Given the description of an element on the screen output the (x, y) to click on. 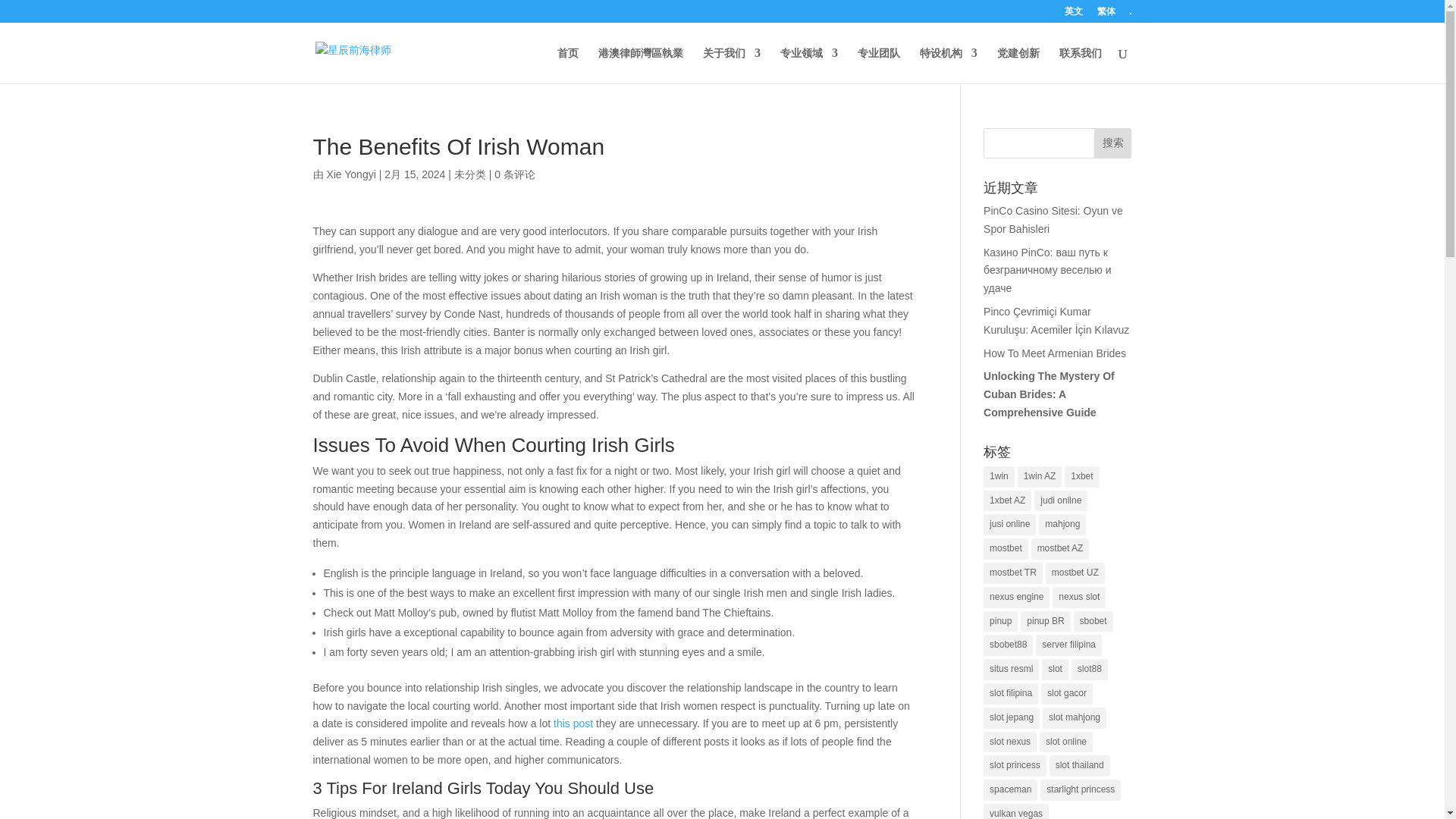
Xie Yongyi (350, 174)
judi online (1060, 500)
Unlocking The Mystery Of Cuban Brides: A Comprehensive Guide (1049, 394)
How To Meet Armenian Brides (1054, 353)
jusi online (1009, 524)
this post (572, 723)
1xbet AZ (1007, 500)
1win (999, 476)
1xbet (1081, 476)
PinCo Casino Sitesi: Oyun ve Spor Bahisleri (1053, 219)
1win AZ (1039, 476)
